Given the description of an element on the screen output the (x, y) to click on. 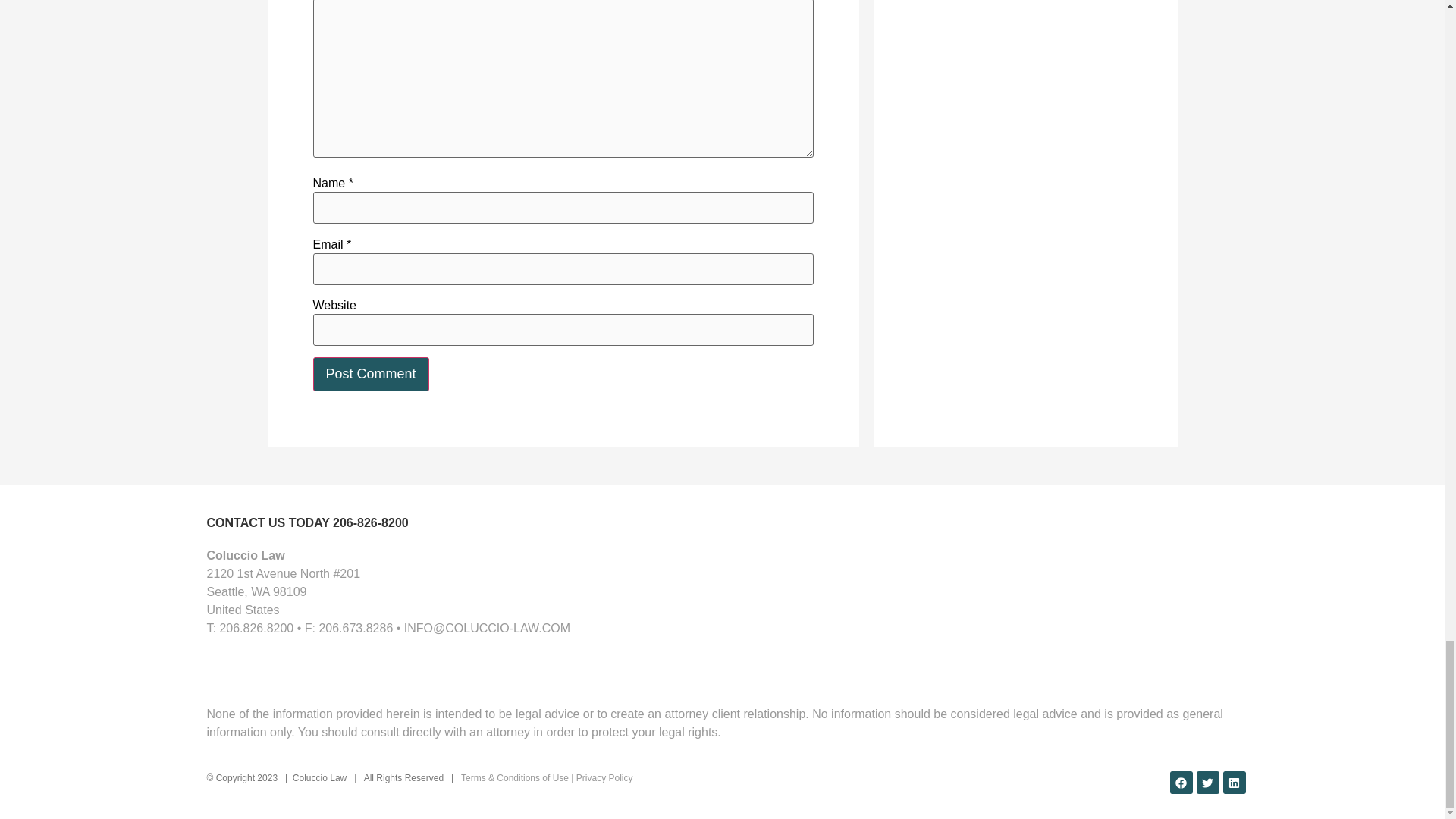
Post Comment (370, 374)
